Given the description of an element on the screen output the (x, y) to click on. 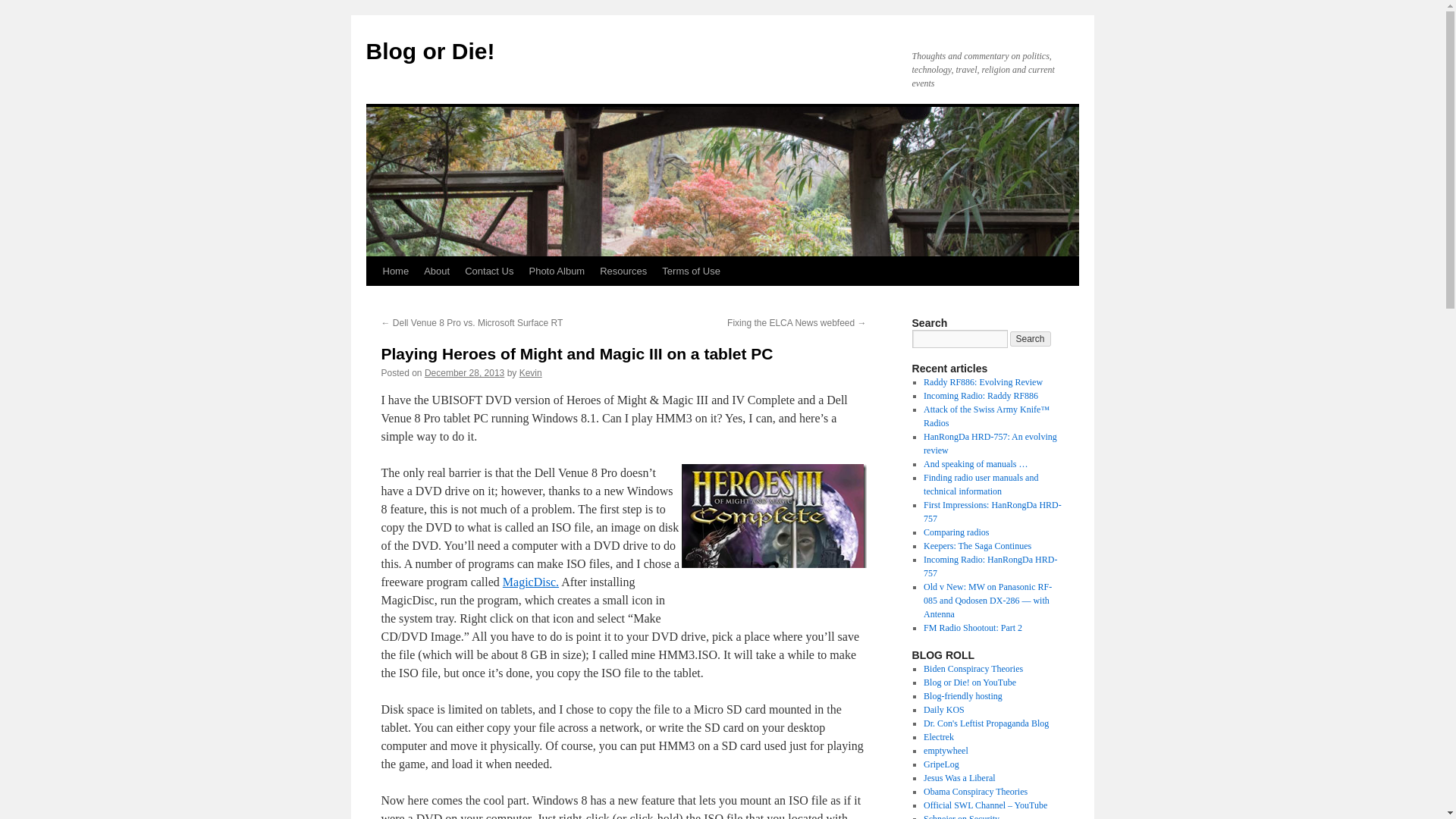
Terms of Use (690, 271)
Where Bat Shirt Crazy Meets the Real World (973, 668)
Photo Album (556, 271)
Resources (622, 271)
Blog or Die! on YouTube (969, 682)
6:00 pm (464, 372)
First Impressions: HanRongDa HRD-757 (992, 511)
Raddy RF886: Evolving Review (982, 381)
Electric vehicle news (938, 737)
The worst in products and services (941, 764)
